Given the description of an element on the screen output the (x, y) to click on. 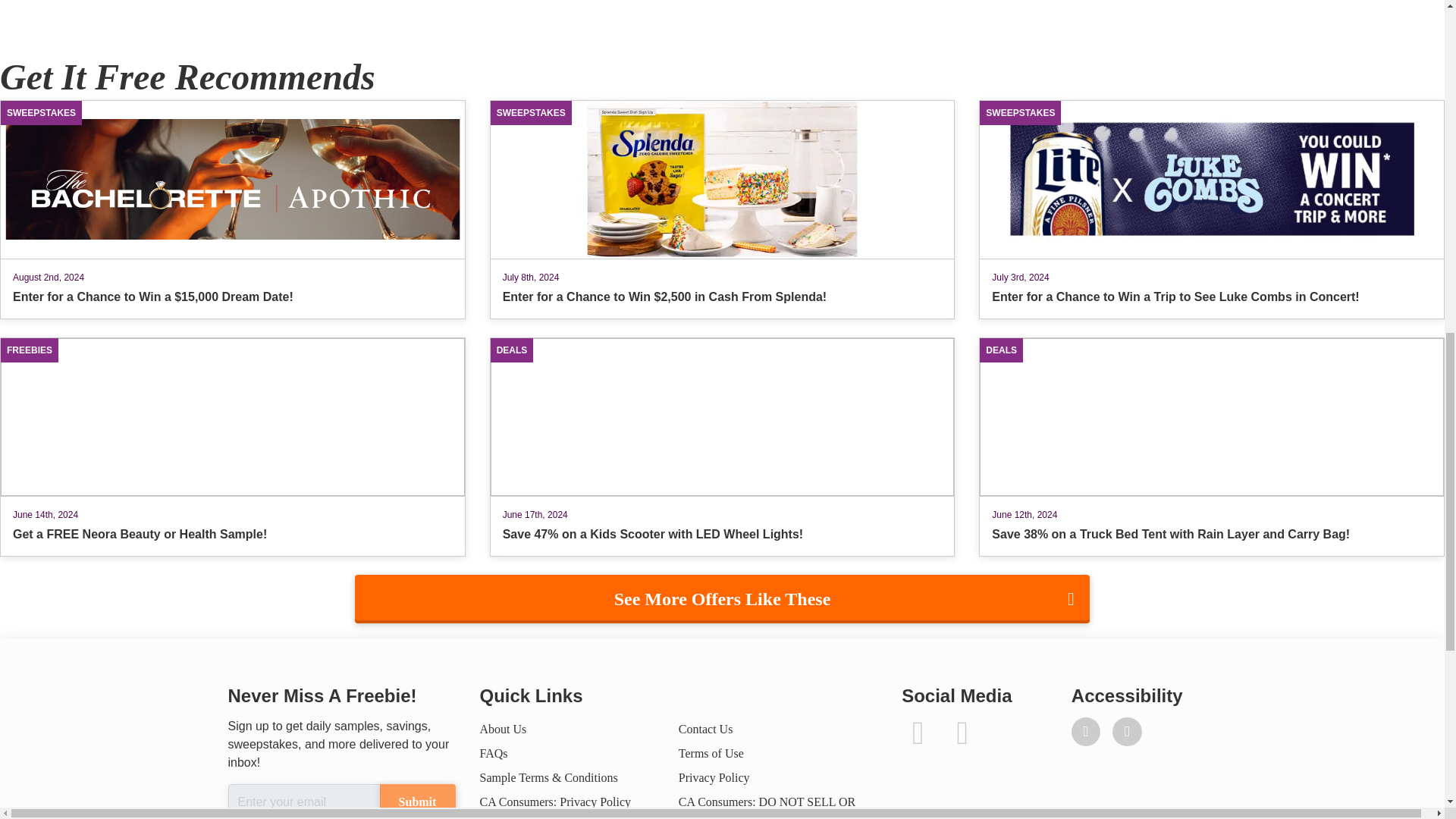
CA Consumers: Privacy Policy (554, 801)
Submit (416, 801)
Terms of Use (711, 753)
CA Consumers: DO NOT SELL OR SHARE MY PERSONAL INFORMATION (767, 807)
About Us (502, 728)
Privacy Policy (713, 777)
FAQs (492, 753)
Share on Facebook (74, 2)
